Given the description of an element on the screen output the (x, y) to click on. 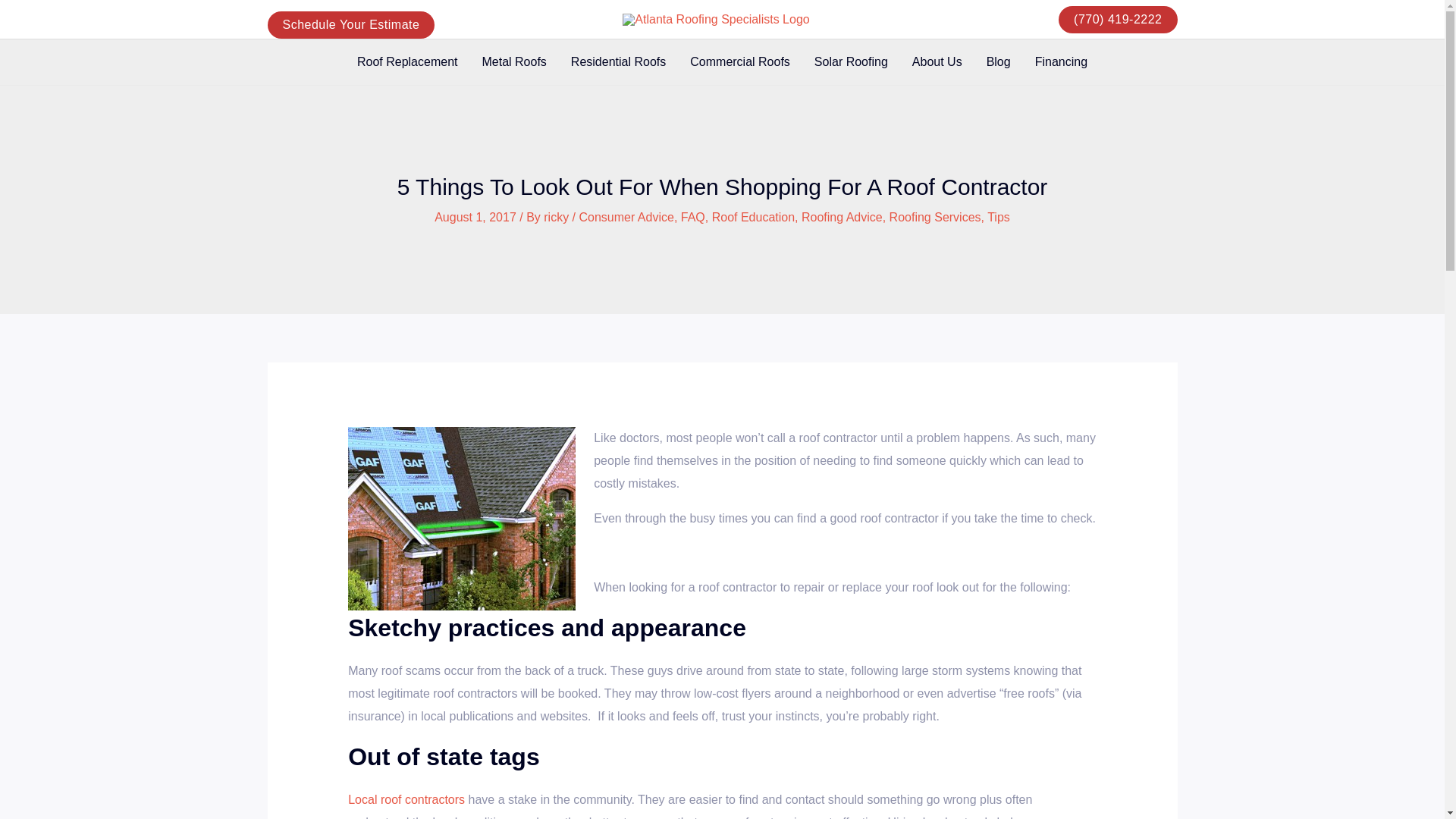
Roofing Services (935, 216)
Tips (998, 216)
Residential Roofs (618, 62)
Roofing Advice (842, 216)
Schedule Your Estimate (349, 24)
Financing (1061, 62)
Blog (998, 62)
ricky (557, 216)
Metal Roofs (512, 62)
About Us (936, 62)
Consumer Advice (626, 216)
Roof Education (752, 216)
View all posts by ricky (557, 216)
Commercial Roofs (740, 62)
Roof Replacement (407, 62)
